Given the description of an element on the screen output the (x, y) to click on. 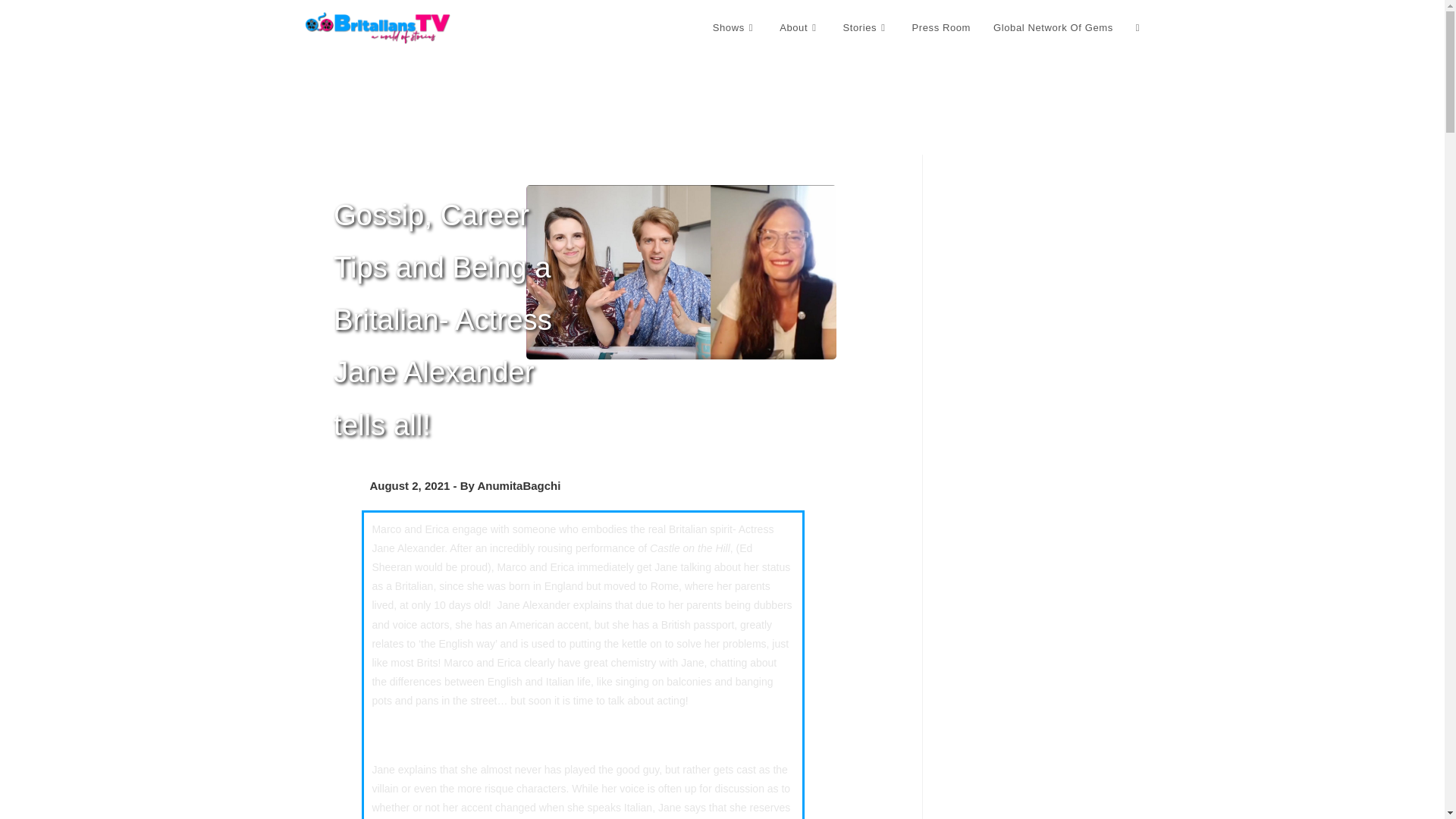
Global Network Of Gems (1052, 28)
Press Room (941, 28)
About (799, 28)
Shows (734, 28)
Stories (865, 28)
